Given the description of an element on the screen output the (x, y) to click on. 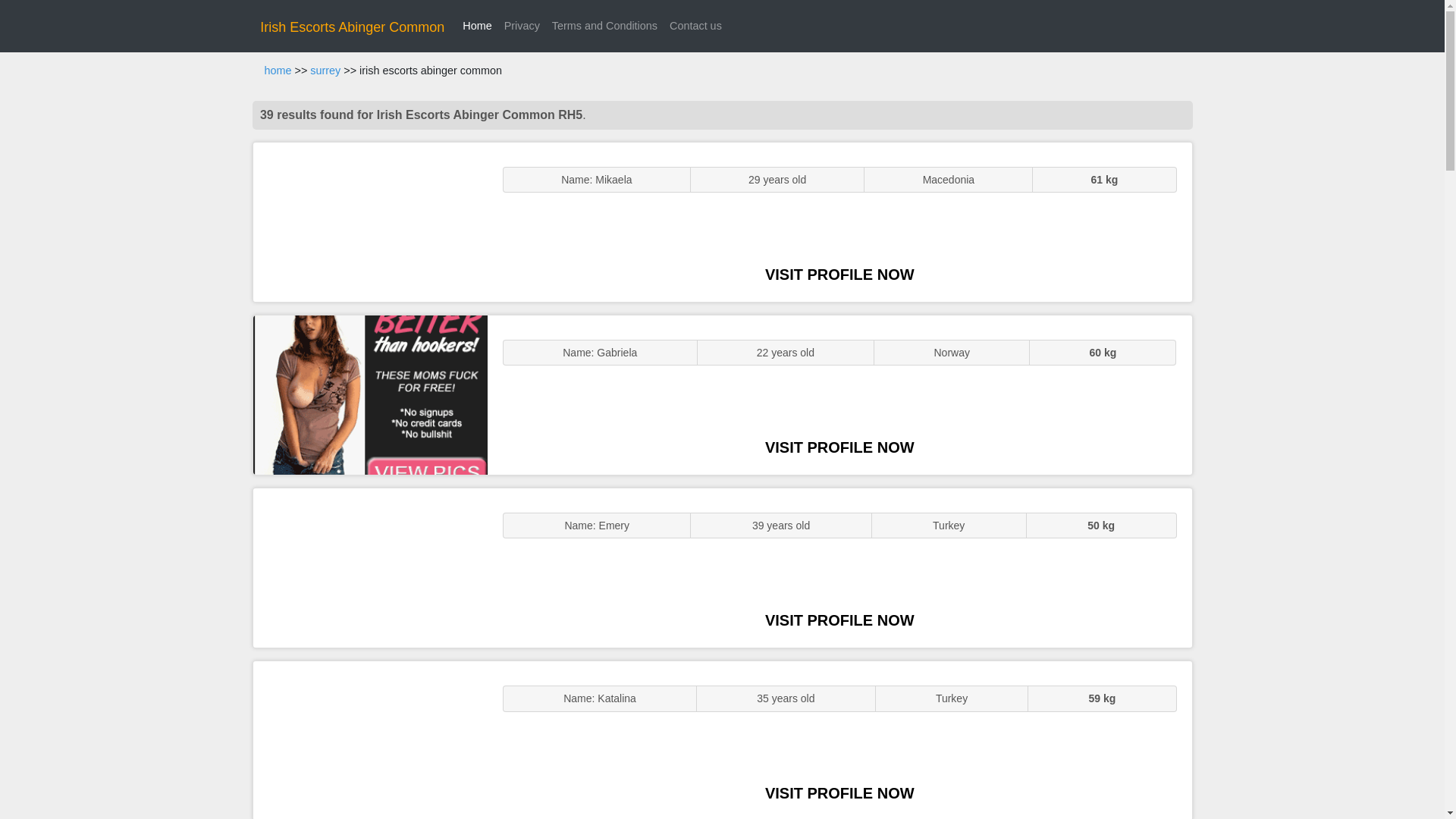
VISIT PROFILE NOW (839, 792)
Contact us (695, 25)
Sexy (370, 567)
Terms and Conditions (604, 25)
Irish Escorts Abinger Common (352, 27)
Sluts (370, 739)
 ENGLISH STUNNER (370, 222)
VISIT PROFILE NOW (839, 274)
home (277, 70)
Privacy (521, 25)
VISIT PROFILE NOW (839, 446)
GFE (370, 395)
surrey (325, 70)
VISIT PROFILE NOW (839, 619)
